Given the description of an element on the screen output the (x, y) to click on. 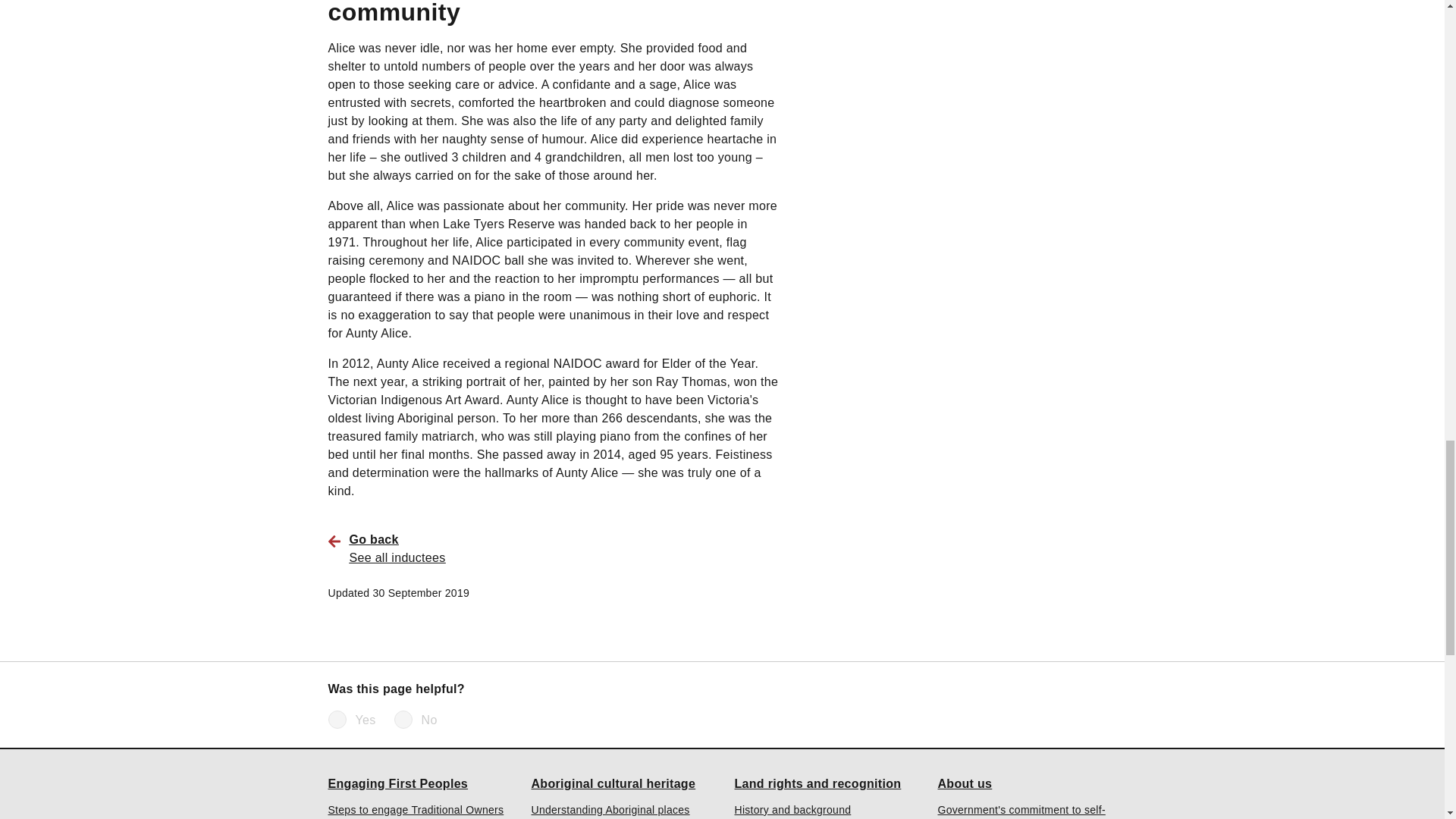
Aboriginal cultural heritage (613, 784)
Engaging First Peoples (397, 784)
Steps to engage Traditional Owners (415, 809)
Understanding Aboriginal places and objects (620, 810)
Go backSee all inductees (563, 547)
